Given the description of an element on the screen output the (x, y) to click on. 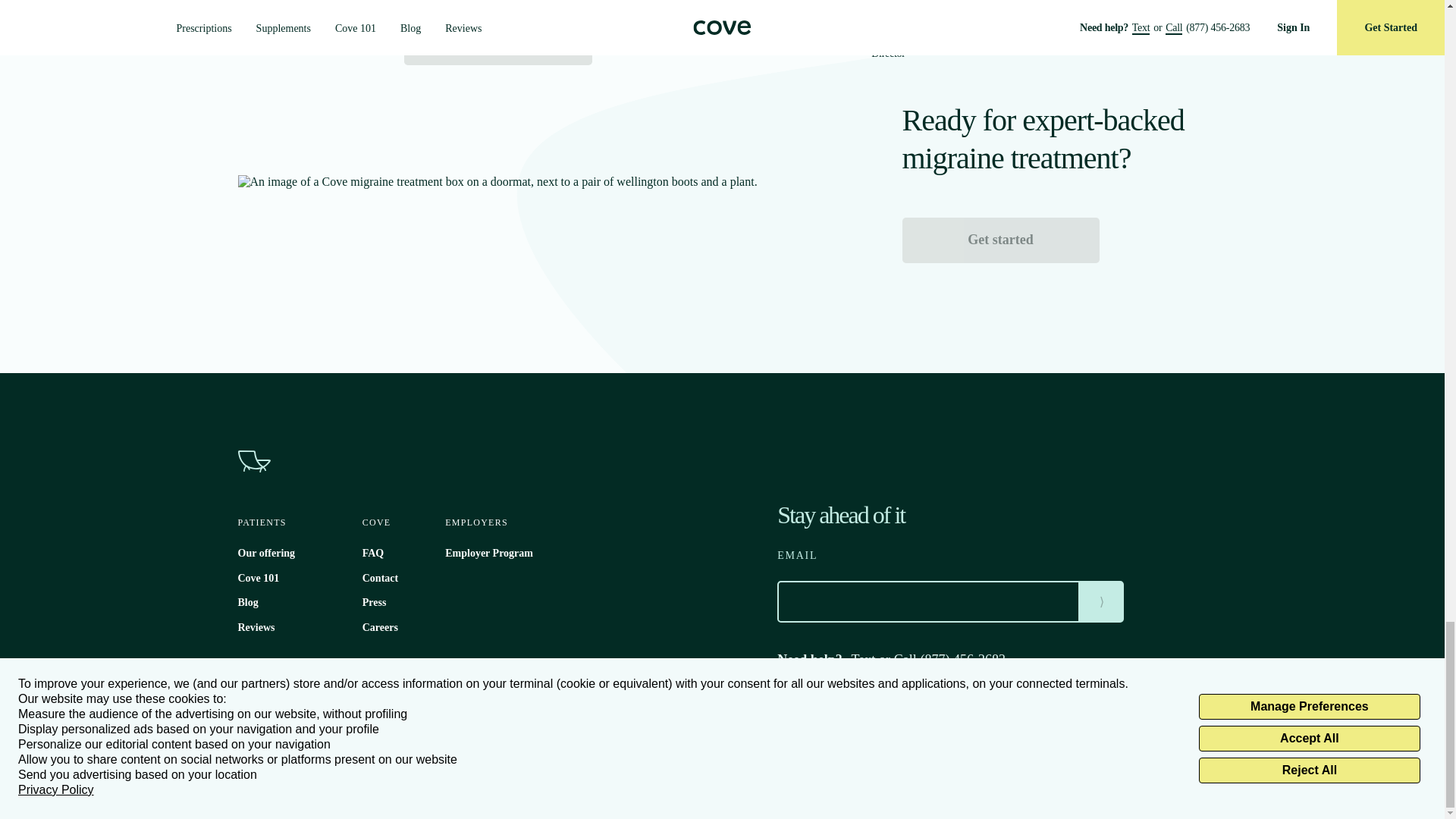
Call (905, 660)
Cove 101 (258, 577)
Get started (1000, 239)
Press (374, 602)
Careers (379, 627)
Get started (497, 42)
Text (863, 660)
FAQ (373, 552)
Blog (248, 602)
Employer Program (488, 552)
Thirty Madison (266, 706)
Our offering (266, 552)
Keeps (332, 706)
Reviews (256, 627)
Get started (1000, 239)
